Given the description of an element on the screen output the (x, y) to click on. 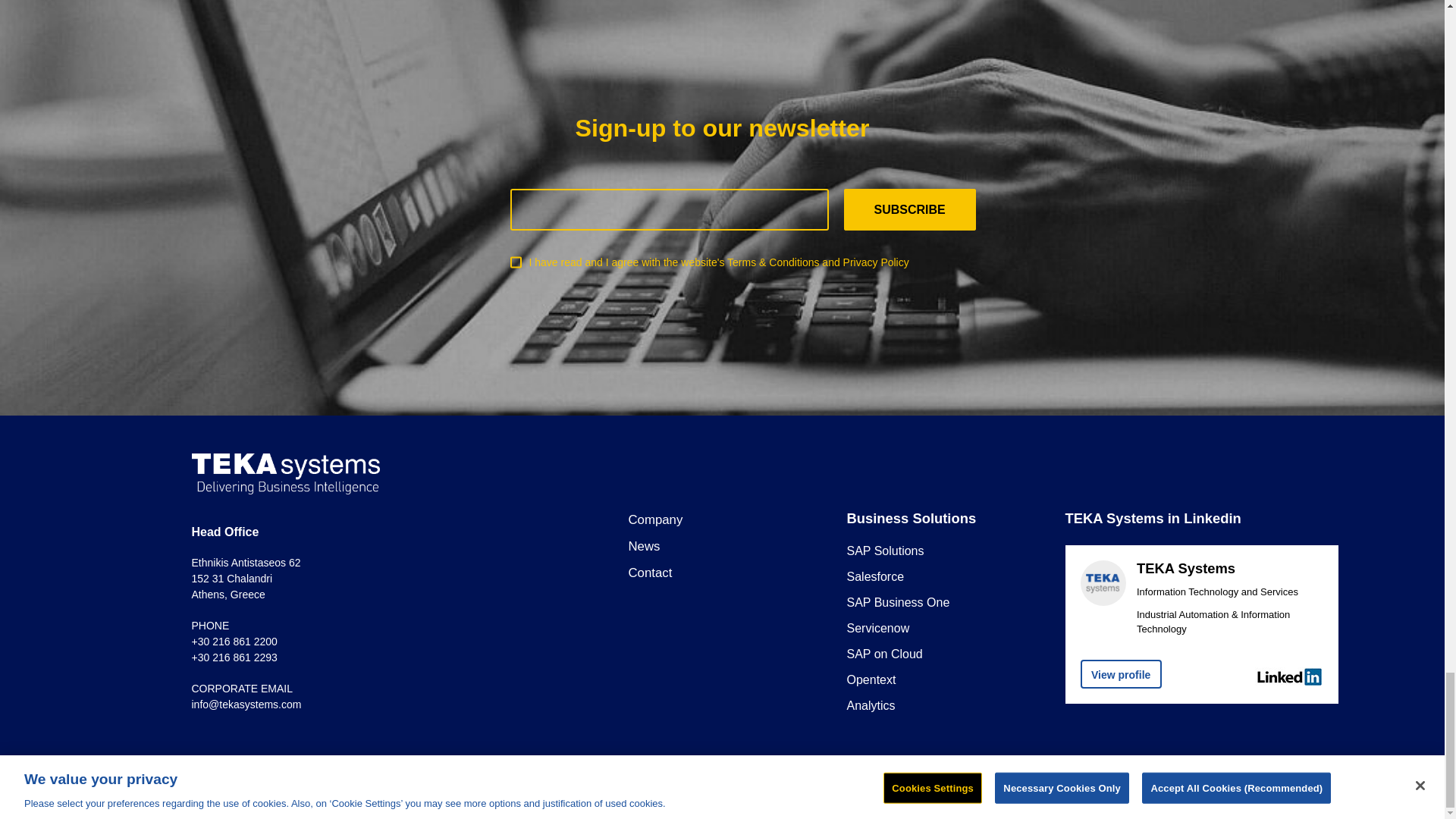
SUBSCRIBE (909, 209)
Our Linkedin Page (1120, 674)
TEKA Systems - Home page (284, 473)
Nevma (1170, 787)
Manage Cookie Preferences (830, 789)
